Given the description of an element on the screen output the (x, y) to click on. 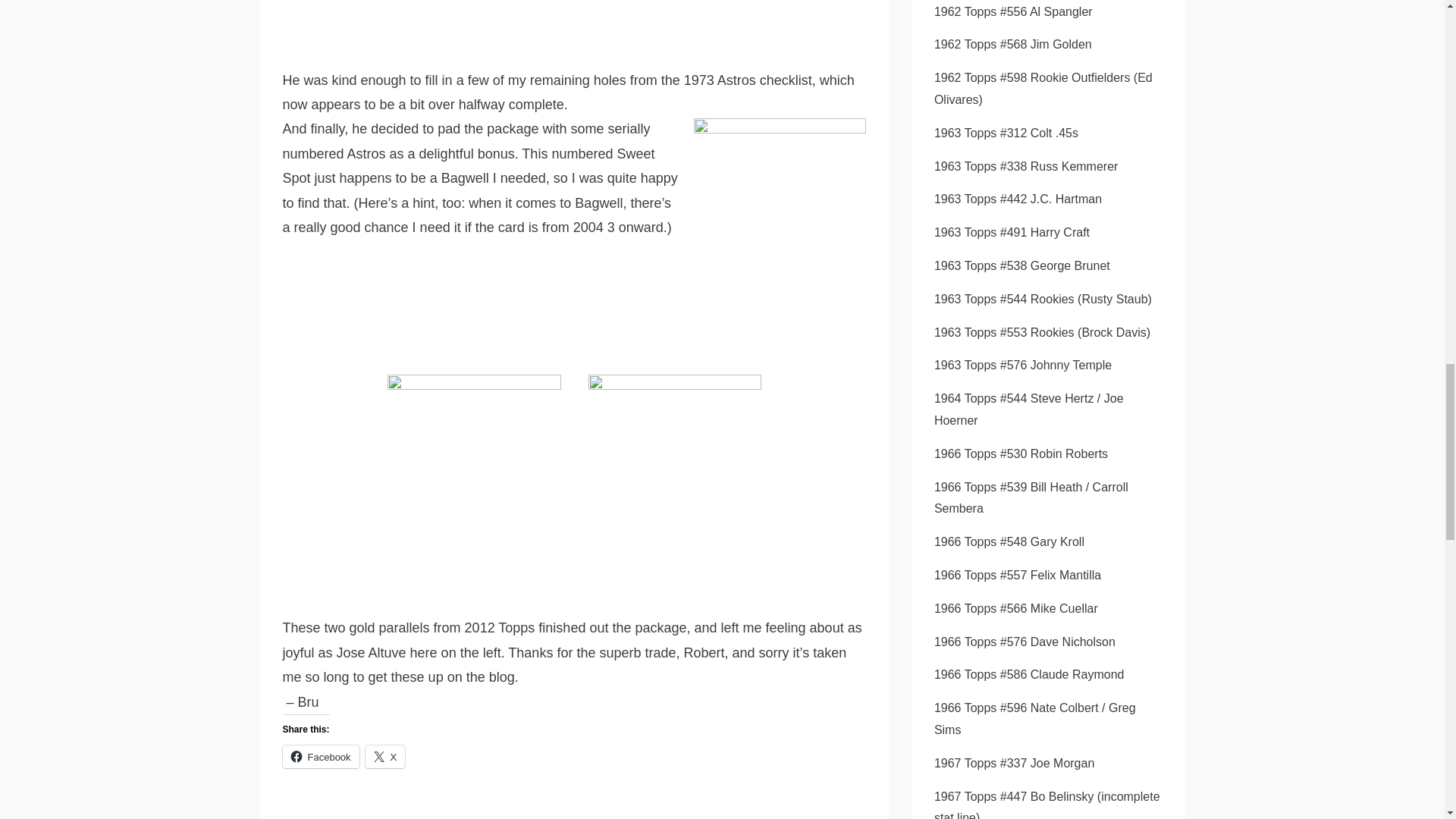
Facebook (320, 756)
Click to share on Facebook (320, 756)
X (385, 756)
Click to share on X (385, 756)
